Given the description of an element on the screen output the (x, y) to click on. 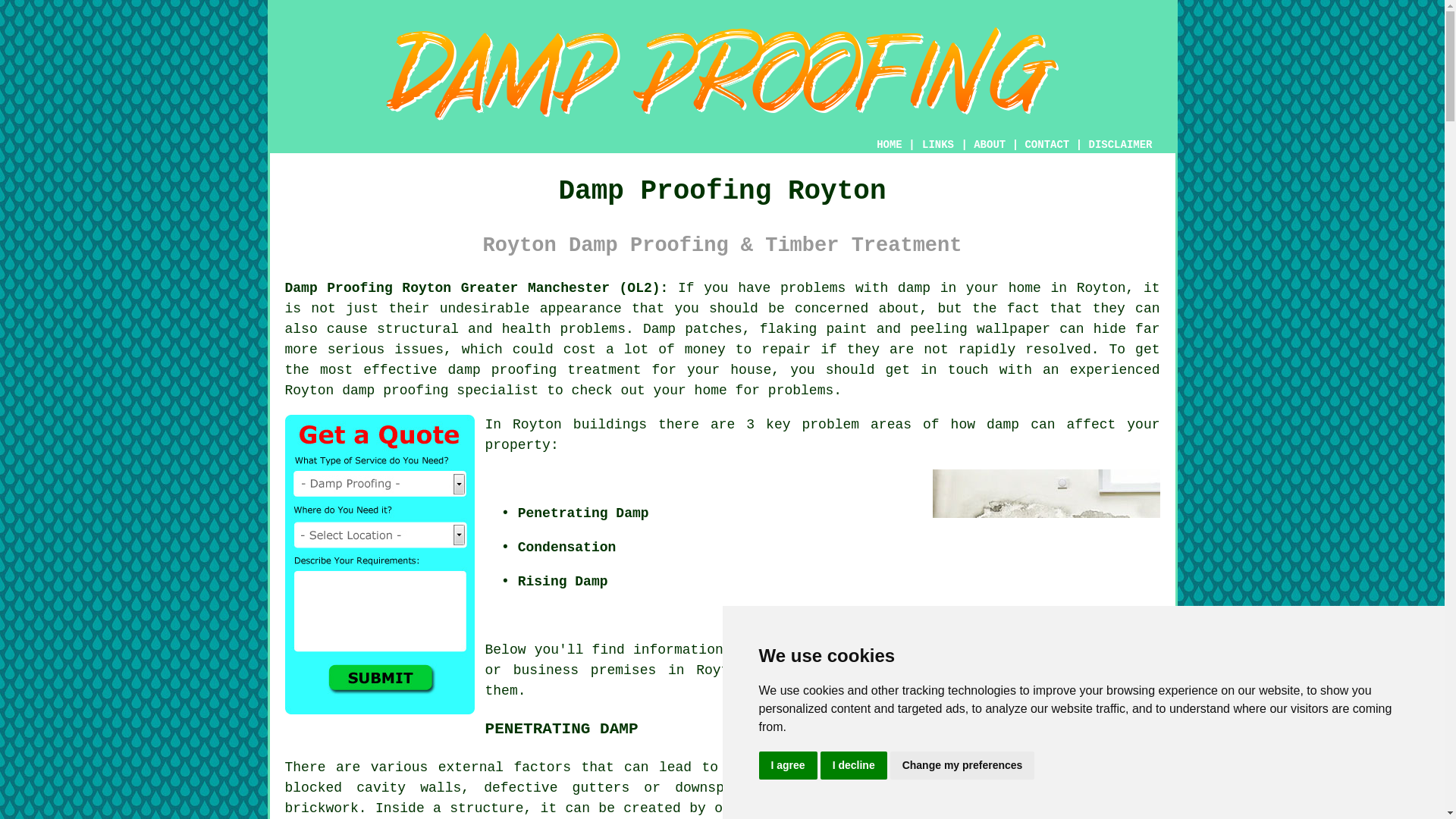
LINKS (938, 144)
damp proofing (395, 390)
I decline (853, 765)
I agree (787, 765)
HOME (889, 144)
Damp Proofing Royton (722, 73)
Change my preferences (962, 765)
damp (1003, 424)
penetrating damp (794, 767)
